Given the description of an element on the screen output the (x, y) to click on. 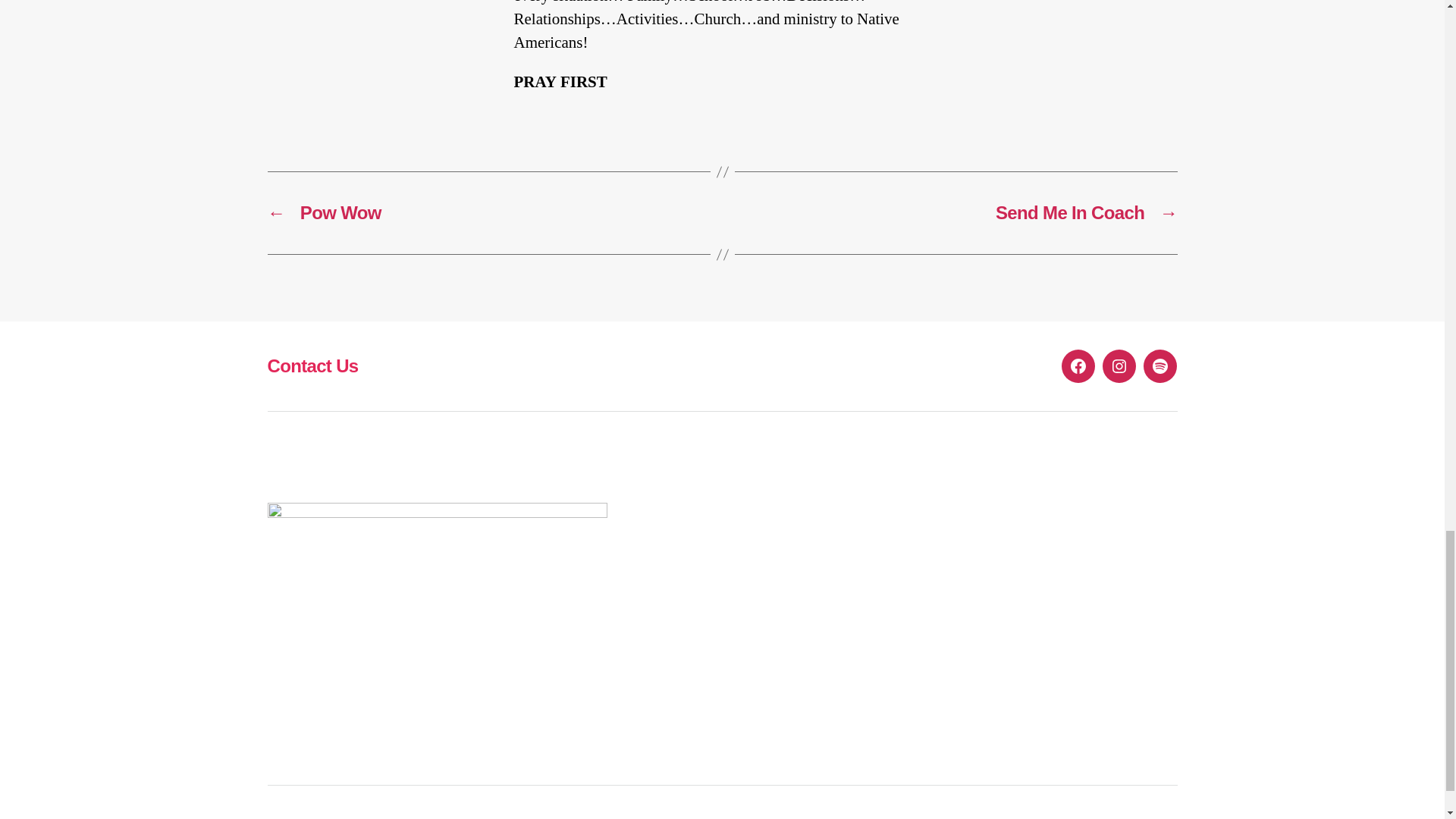
Facebook (1077, 366)
spotify (1159, 366)
Instagram (1118, 366)
Contact Us (312, 365)
